Given the description of an element on the screen output the (x, y) to click on. 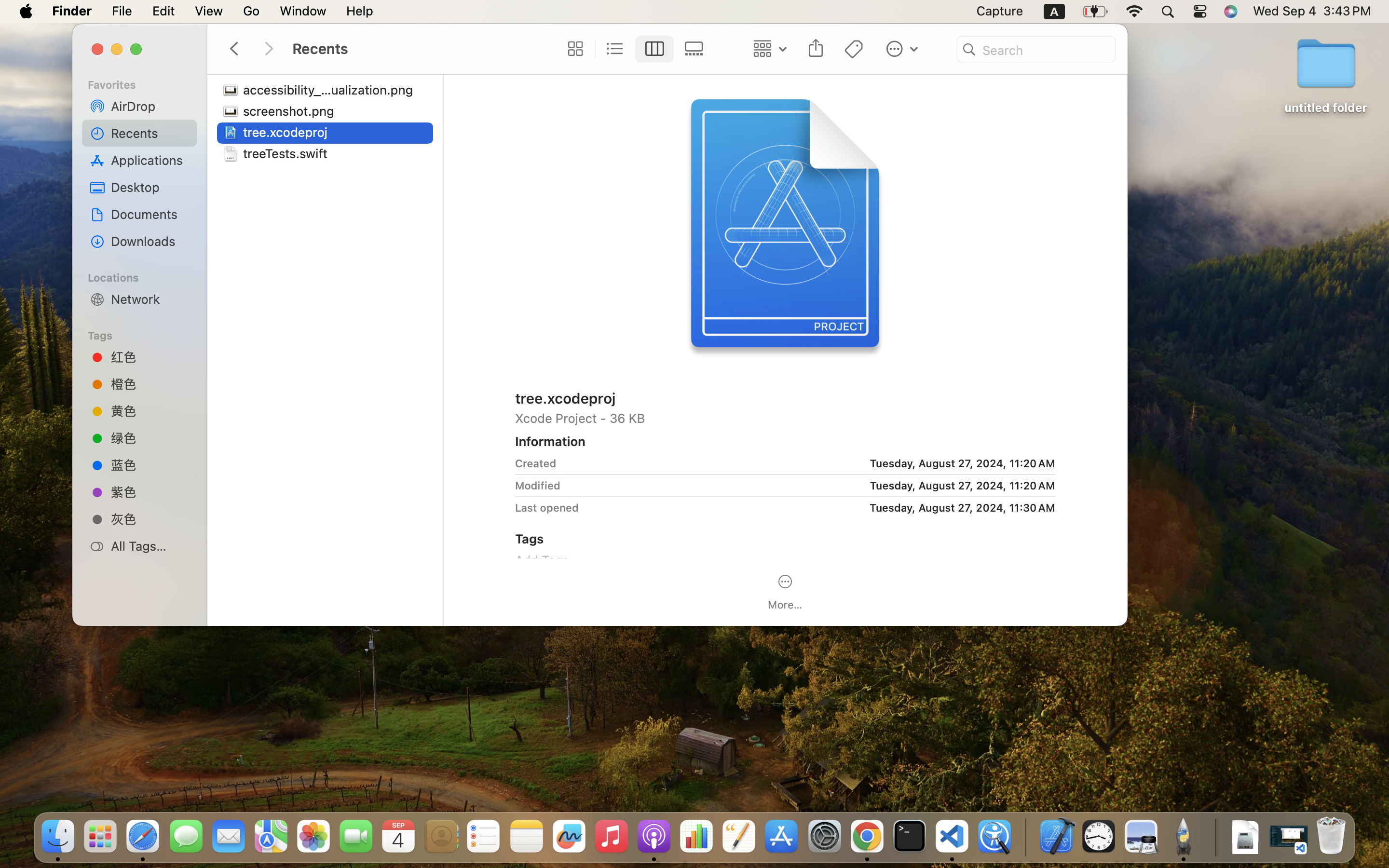
<AXUIElement 0x13b5b49c0> {pid=510} Element type: AXRadioGroup (633, 48)
Recents Element type: AXStaticText (149, 132)
screenshot.png Element type: AXTextField (290, 110)
Locations Element type: AXStaticText (144, 276)
Information Element type: AXStaticText (550, 440)
